Given the description of an element on the screen output the (x, y) to click on. 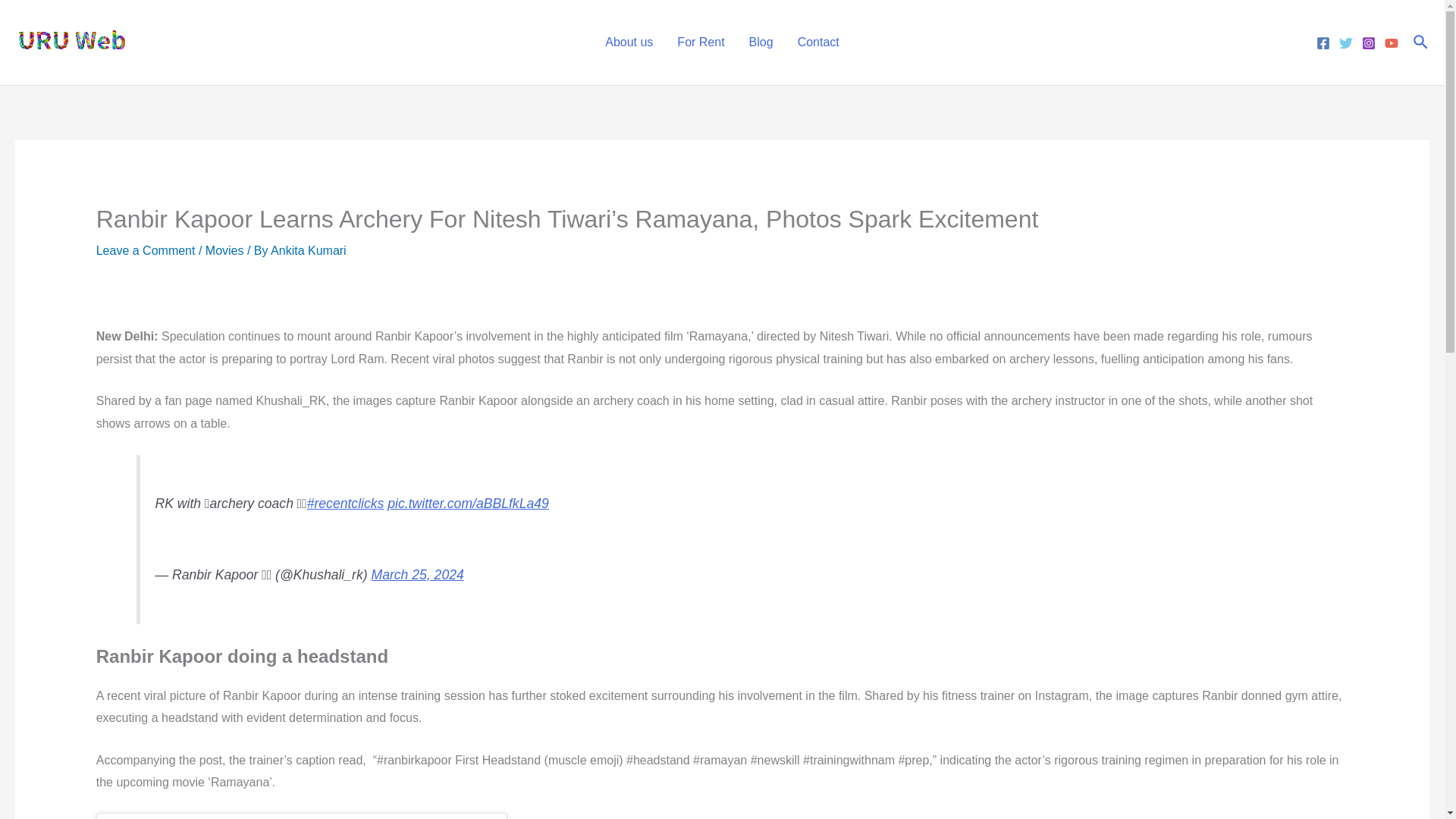
View all posts by Ankita Kumari (308, 250)
Contact (818, 42)
About us (628, 42)
For Rent (700, 42)
